Given the description of an element on the screen output the (x, y) to click on. 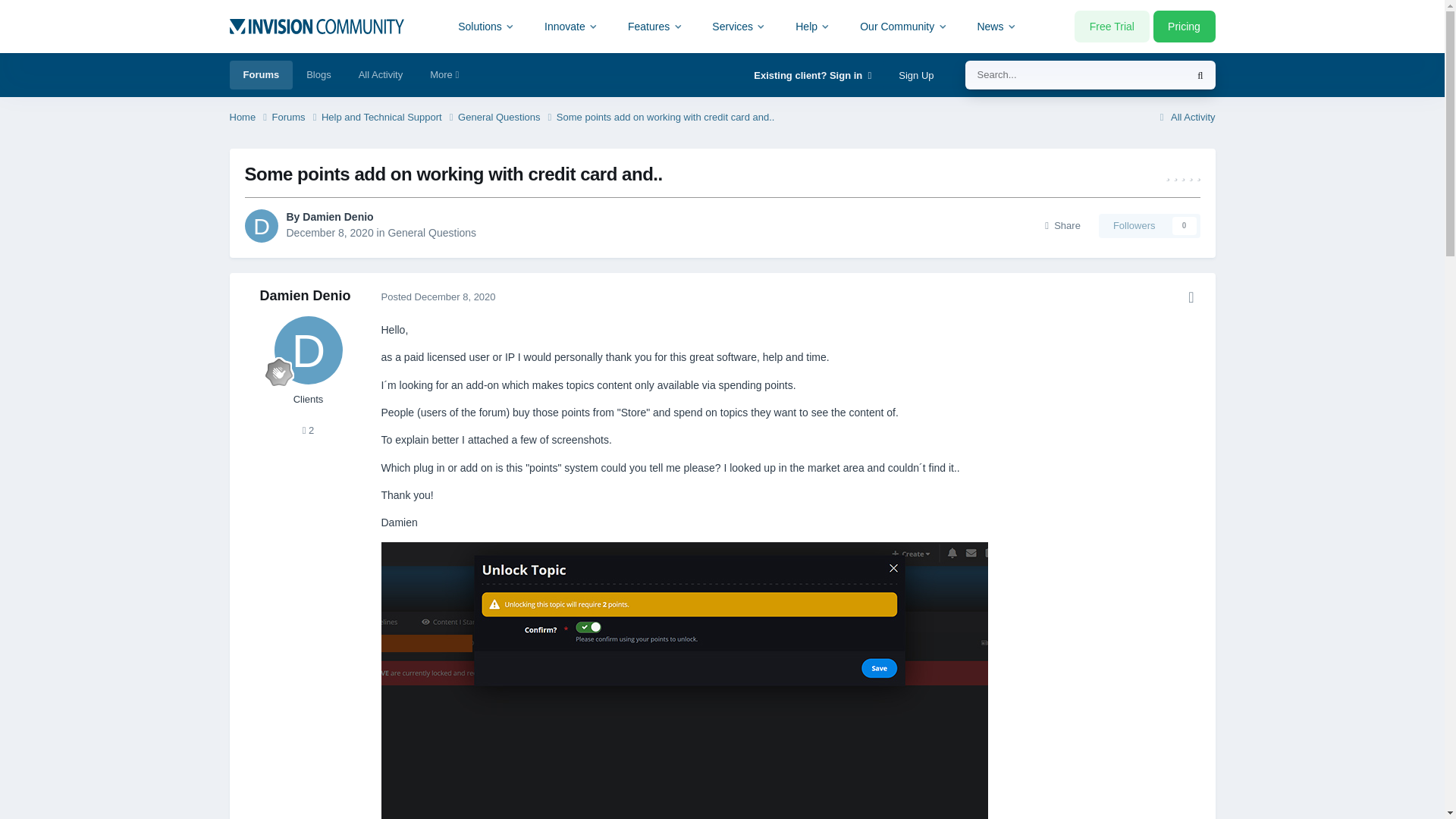
Features (654, 26)
Home (249, 117)
Services (738, 26)
Solutions (486, 26)
Help (812, 26)
Innovate (570, 26)
